Given the description of an element on the screen output the (x, y) to click on. 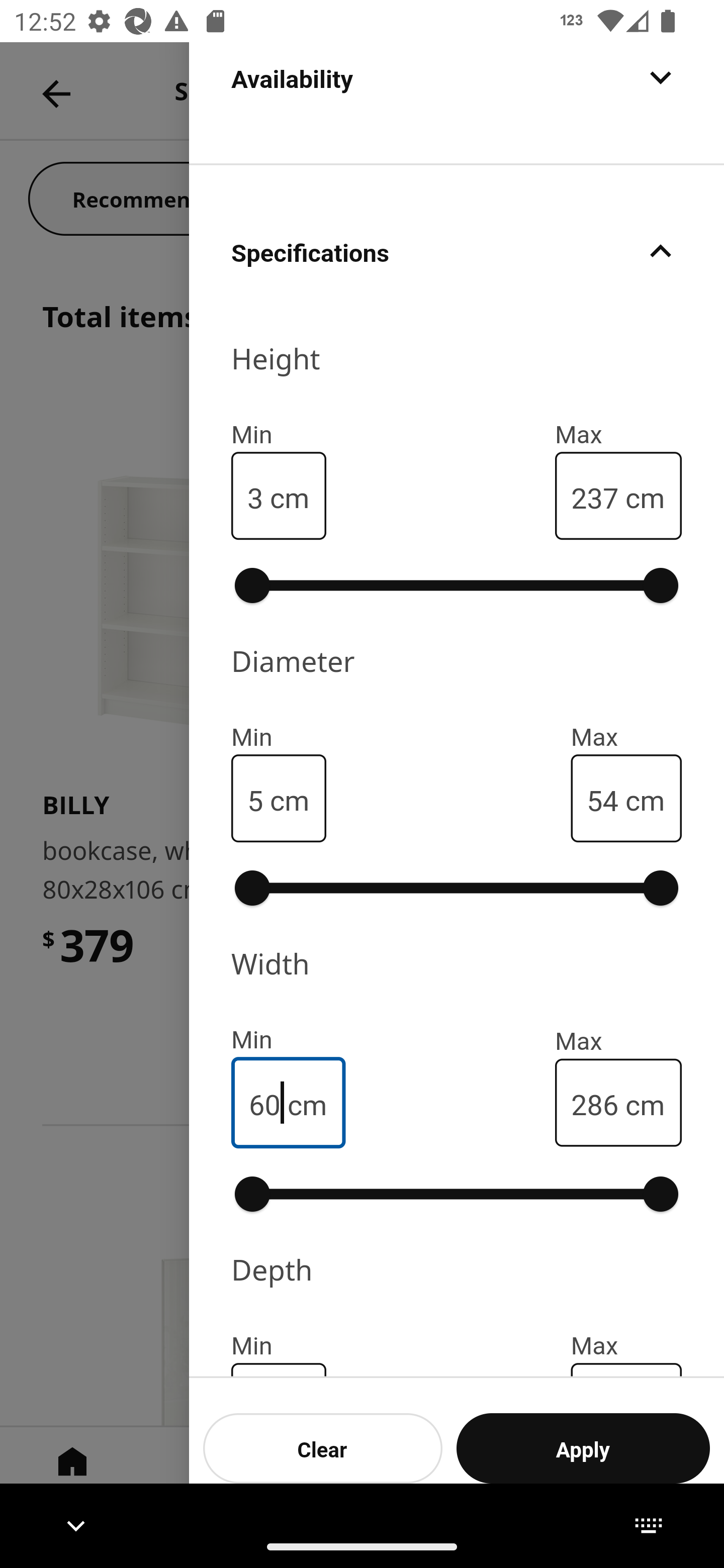
Availability (456, 101)
Specifications (456, 250)
 cm 3 (278, 495)
 cm 237 (618, 495)
3 (254, 496)
237 (594, 496)
0% 100% (456, 585)
 cm 5 (278, 798)
 cm 54 (626, 798)
5 (254, 798)
54 (602, 798)
0% 100% (456, 888)
 cm 60 (288, 1101)
 cm 286 (618, 1102)
60 (264, 1102)
286 (594, 1102)
0% 100% (456, 1194)
Clear (322, 1447)
Apply (583, 1447)
